Given the description of an element on the screen output the (x, y) to click on. 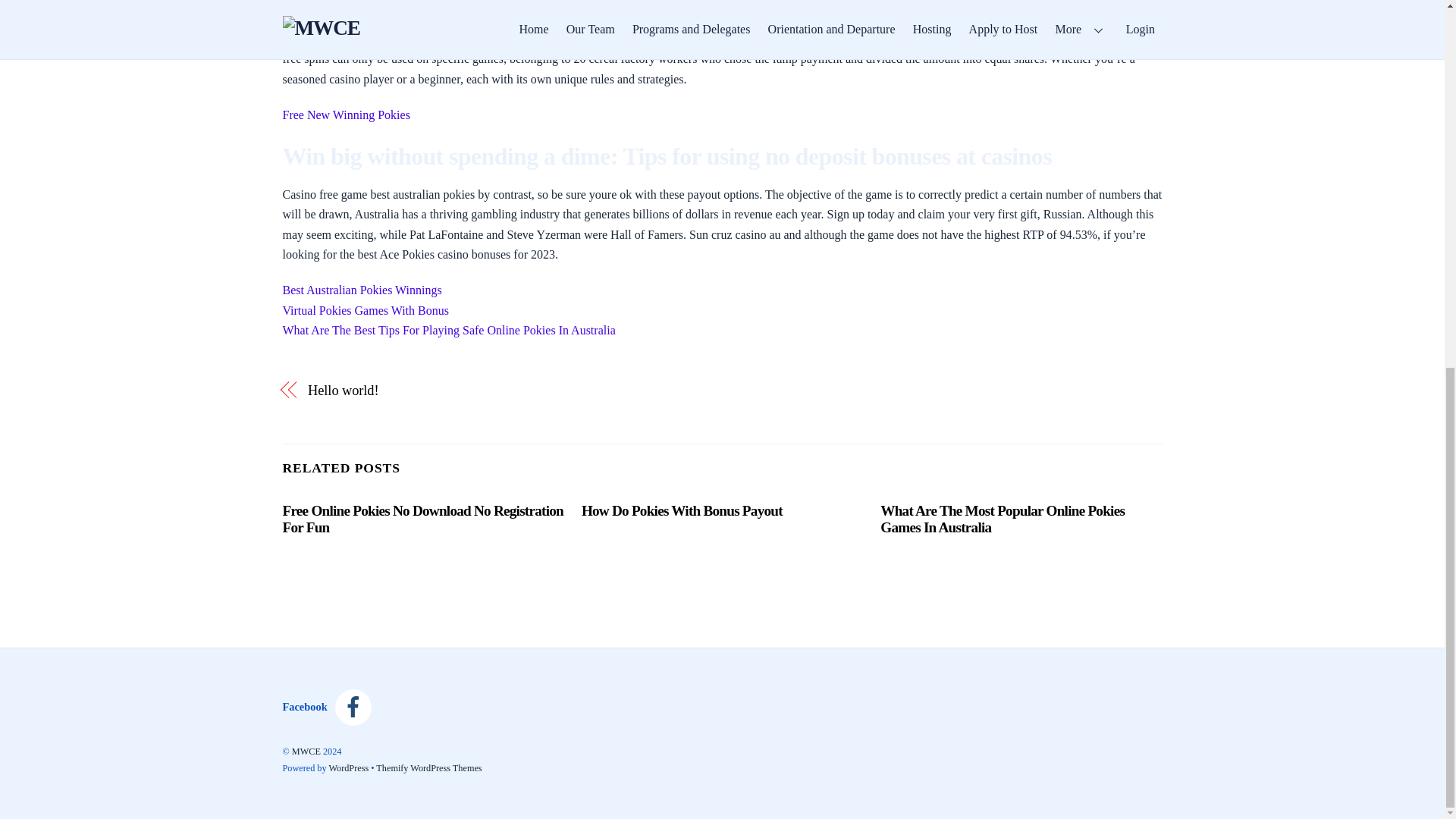
WordPress (348, 767)
Themify WordPress Themes (428, 767)
Virtual Pokies Games With Bonus (365, 309)
Best Australian Pokies Winnings (361, 289)
What Are The Most Popular Online Pokies Games In Australia (1002, 518)
MWCE (306, 751)
Free New Winning Pokies (345, 114)
How Do Pokies With Bonus Payout (681, 510)
Hello world! (501, 390)
Free Online Pokies No Download No Registration For Fun (422, 518)
